Given the description of an element on the screen output the (x, y) to click on. 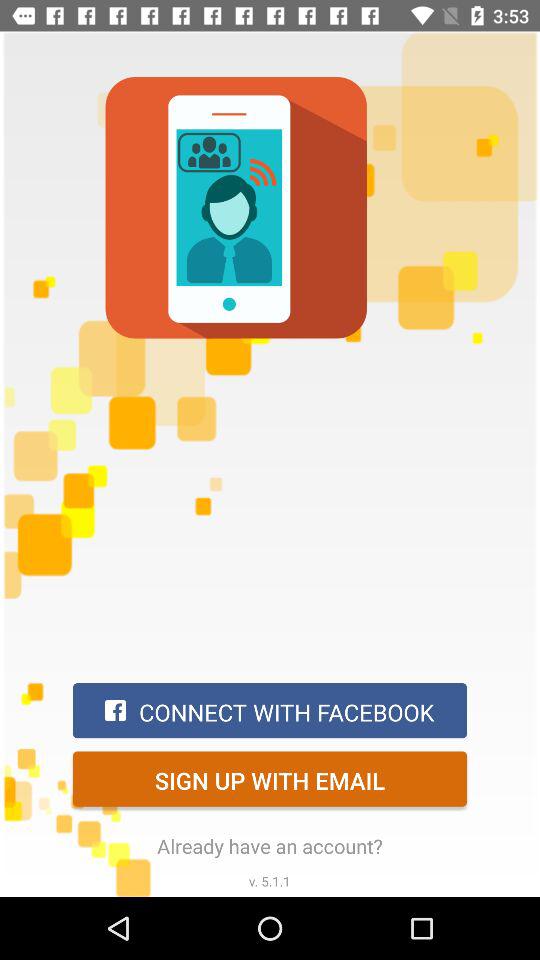
select item below connect with facebook (269, 778)
